Given the description of an element on the screen output the (x, y) to click on. 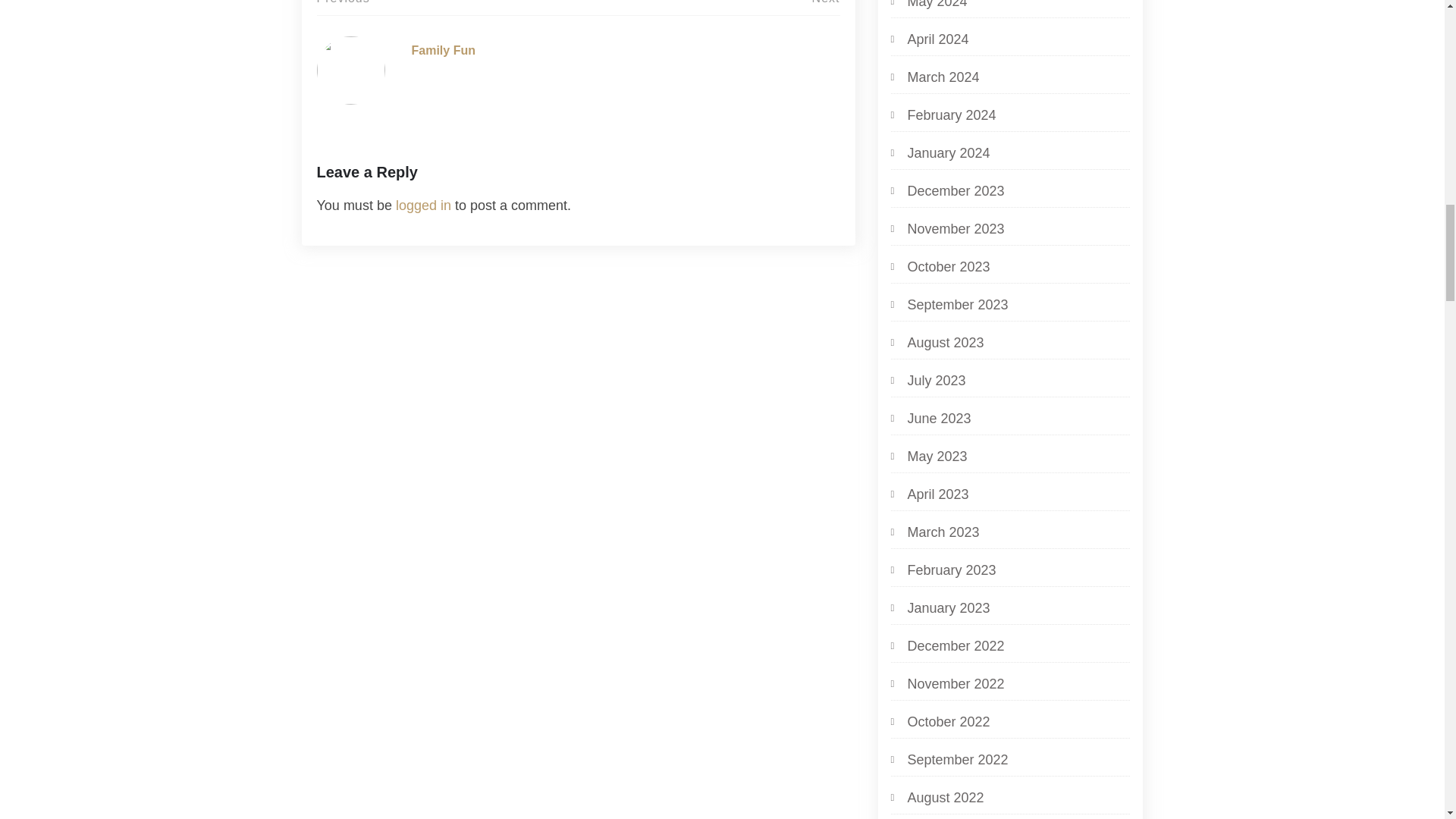
Posts by Family Fun (442, 50)
May 2024 (927, 6)
Family Fun (442, 50)
logged in (423, 205)
Previous (343, 2)
Next (826, 2)
